Given the description of an element on the screen output the (x, y) to click on. 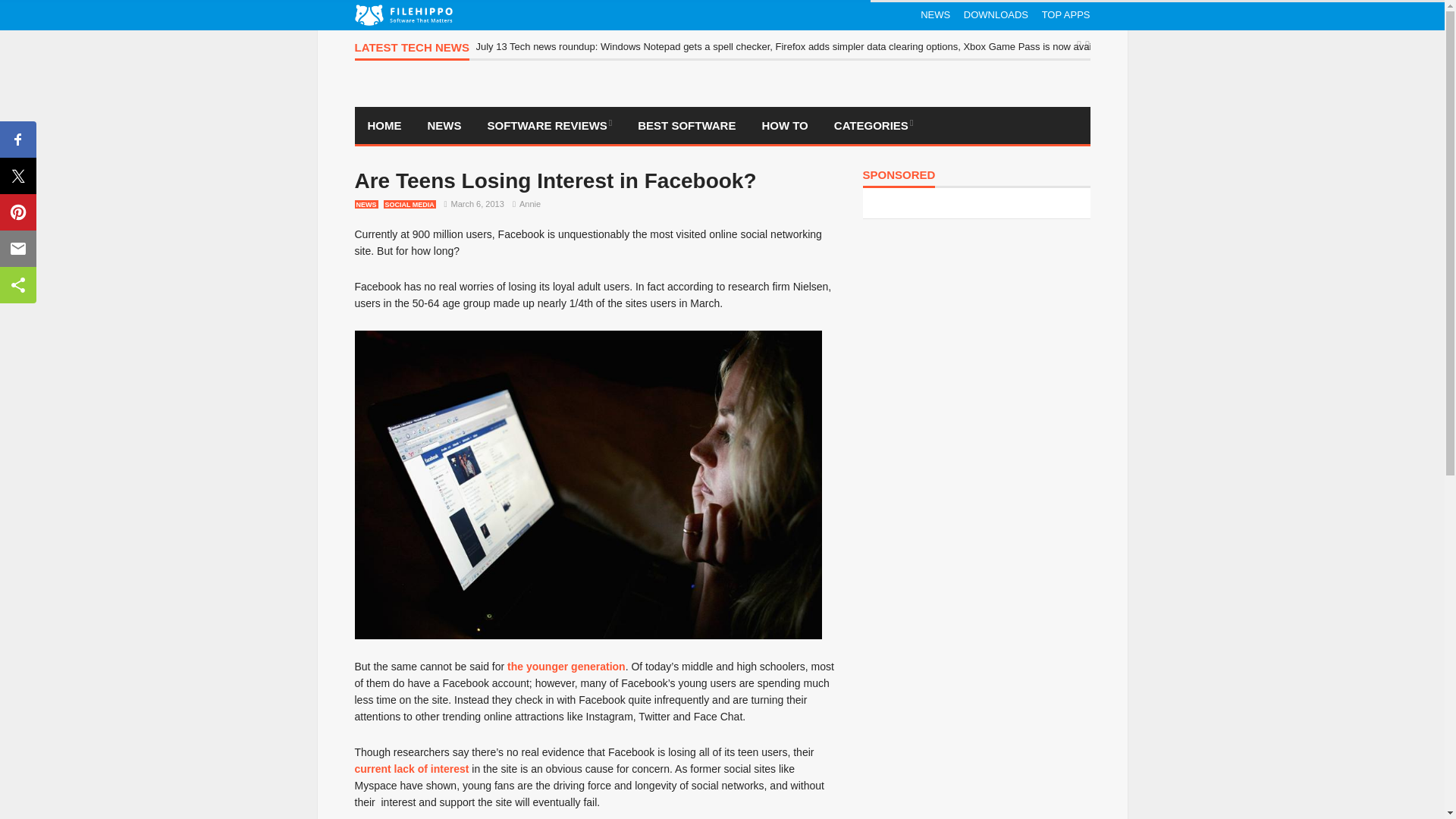
LATEST TECH NEWS (411, 50)
NEWS (443, 125)
SOFTWARE REVIEWS (550, 125)
News (443, 125)
How To (784, 125)
Software Reviews (550, 125)
TOP APPS (1066, 14)
DOWNLOADS (995, 14)
Categories (873, 125)
Best Software (686, 125)
NEWS (935, 14)
HOME (384, 125)
Home (384, 125)
